Given the description of an element on the screen output the (x, y) to click on. 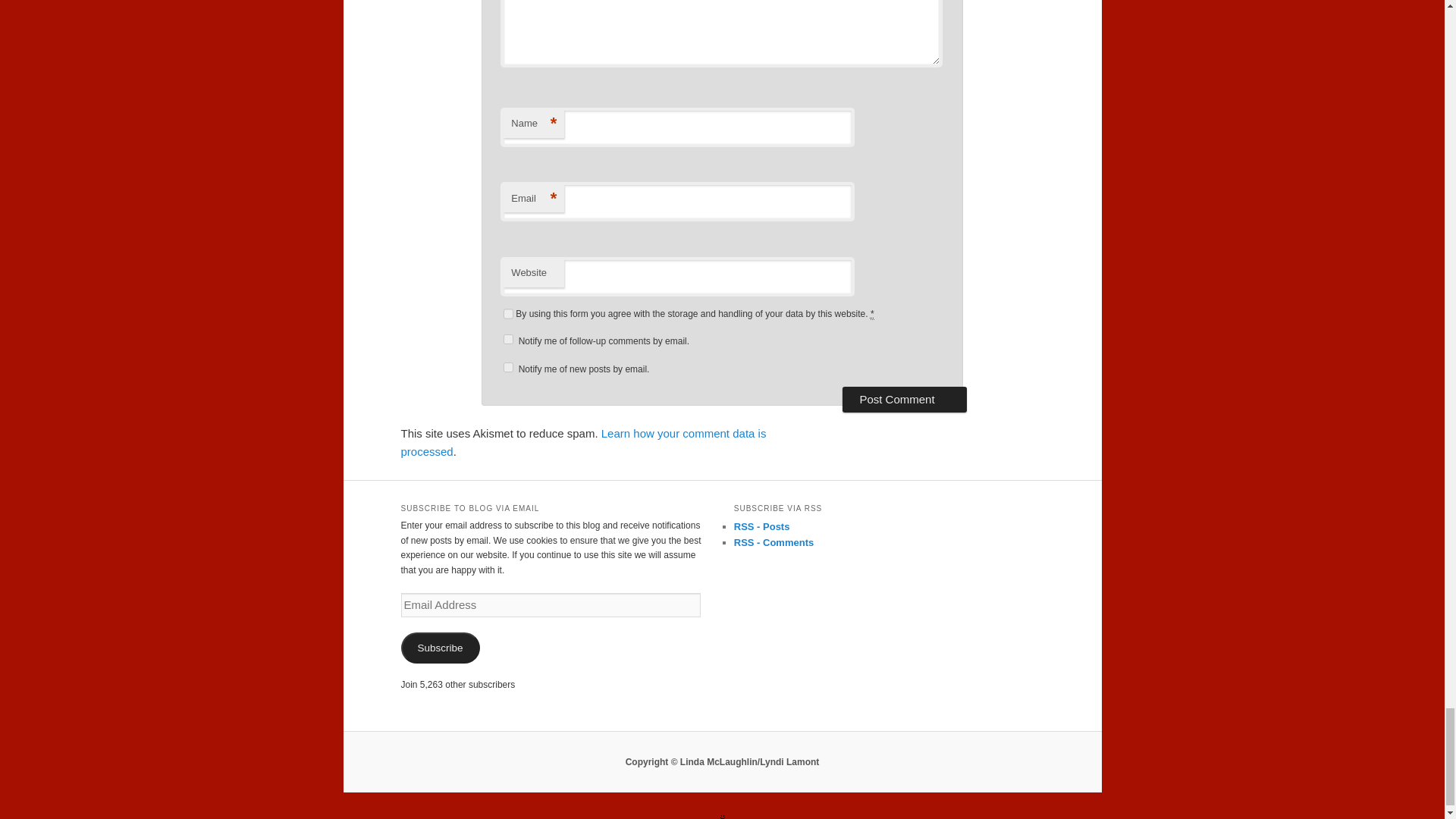
Post Comment (904, 399)
subscribe (508, 367)
Subscribe to posts (761, 526)
subscribe (508, 338)
